Given the description of an element on the screen output the (x, y) to click on. 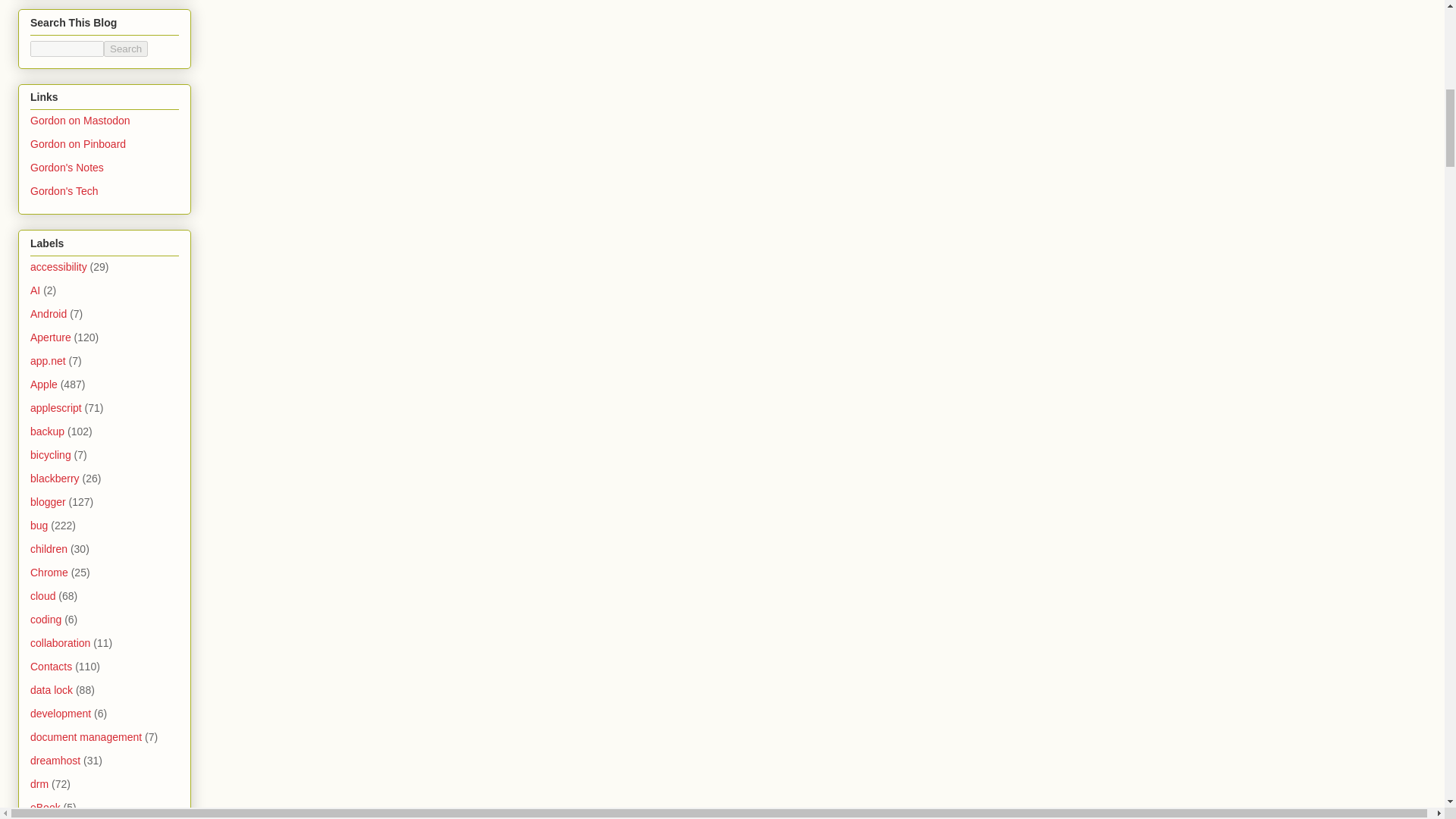
applescript (55, 408)
Search (125, 48)
Search (125, 48)
Search (125, 48)
Gordon's Notes (66, 167)
Apple (44, 384)
Aperture (50, 337)
app.net (47, 360)
accessibility (58, 266)
Android (48, 313)
search (125, 48)
Gordon on Mastodon (80, 120)
Gordon's Tech (64, 191)
backup (47, 431)
Gordon on Pinboard (77, 143)
